Given the description of an element on the screen output the (x, y) to click on. 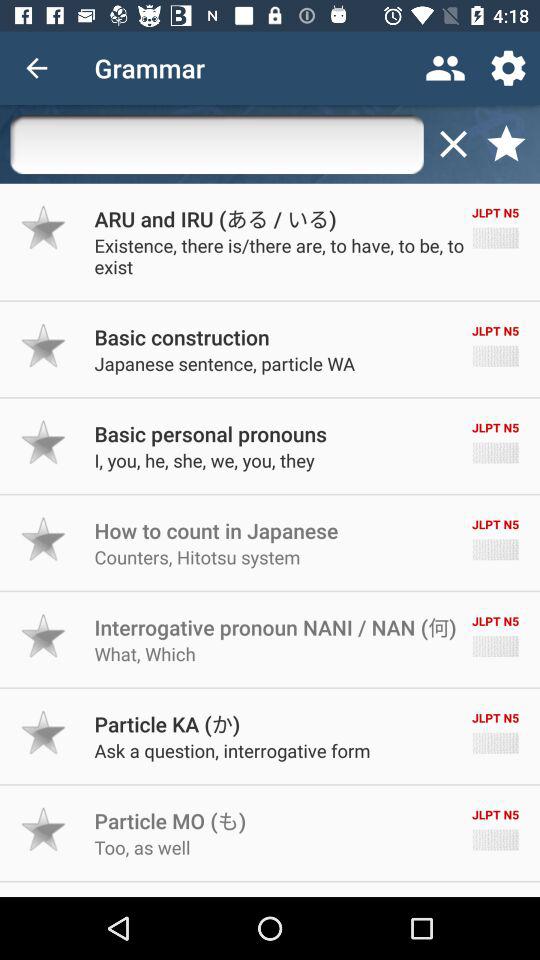
mark as important (44, 442)
